Given the description of an element on the screen output the (x, y) to click on. 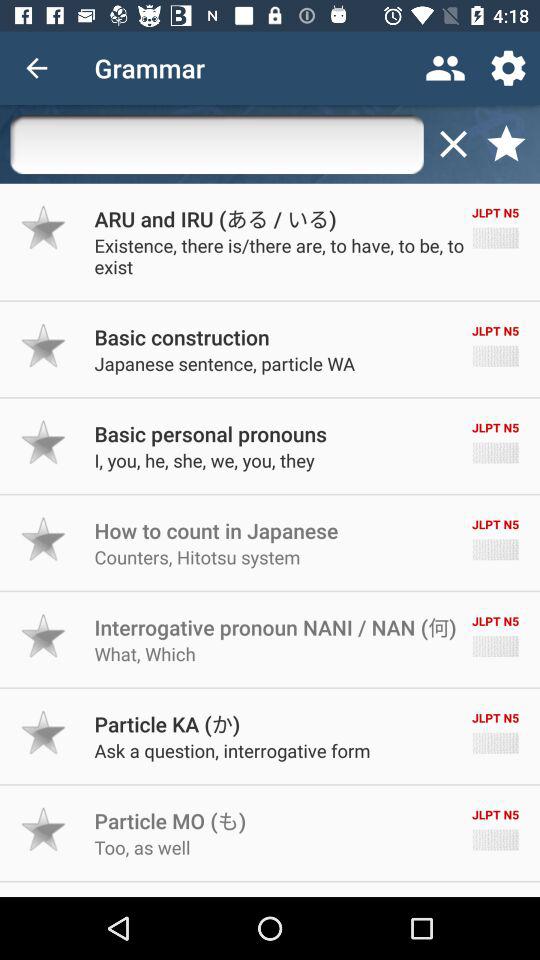
mark as important (44, 442)
